Given the description of an element on the screen output the (x, y) to click on. 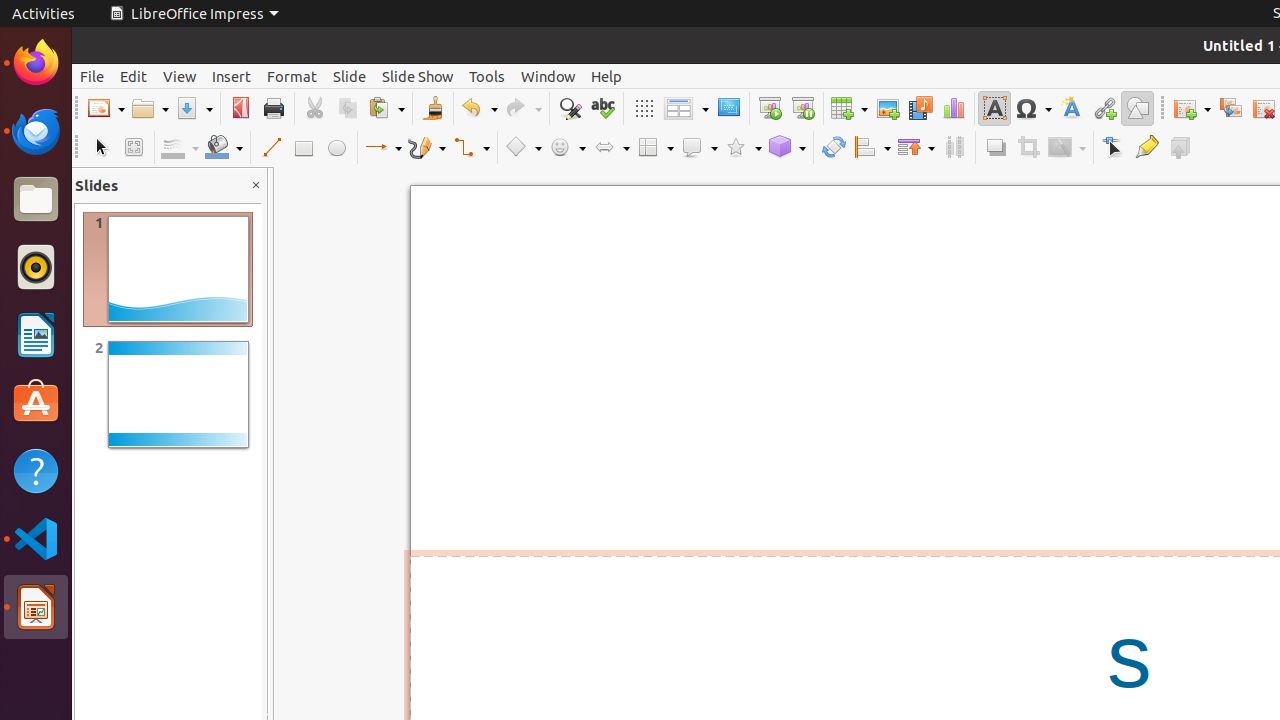
Curves and Polygons Element type: push-button (427, 147)
Zoom & Pan Element type: push-button (133, 147)
Save Element type: push-button (194, 108)
PDF Element type: push-button (240, 108)
Shadow Element type: toggle-button (995, 147)
